Given the description of an element on the screen output the (x, y) to click on. 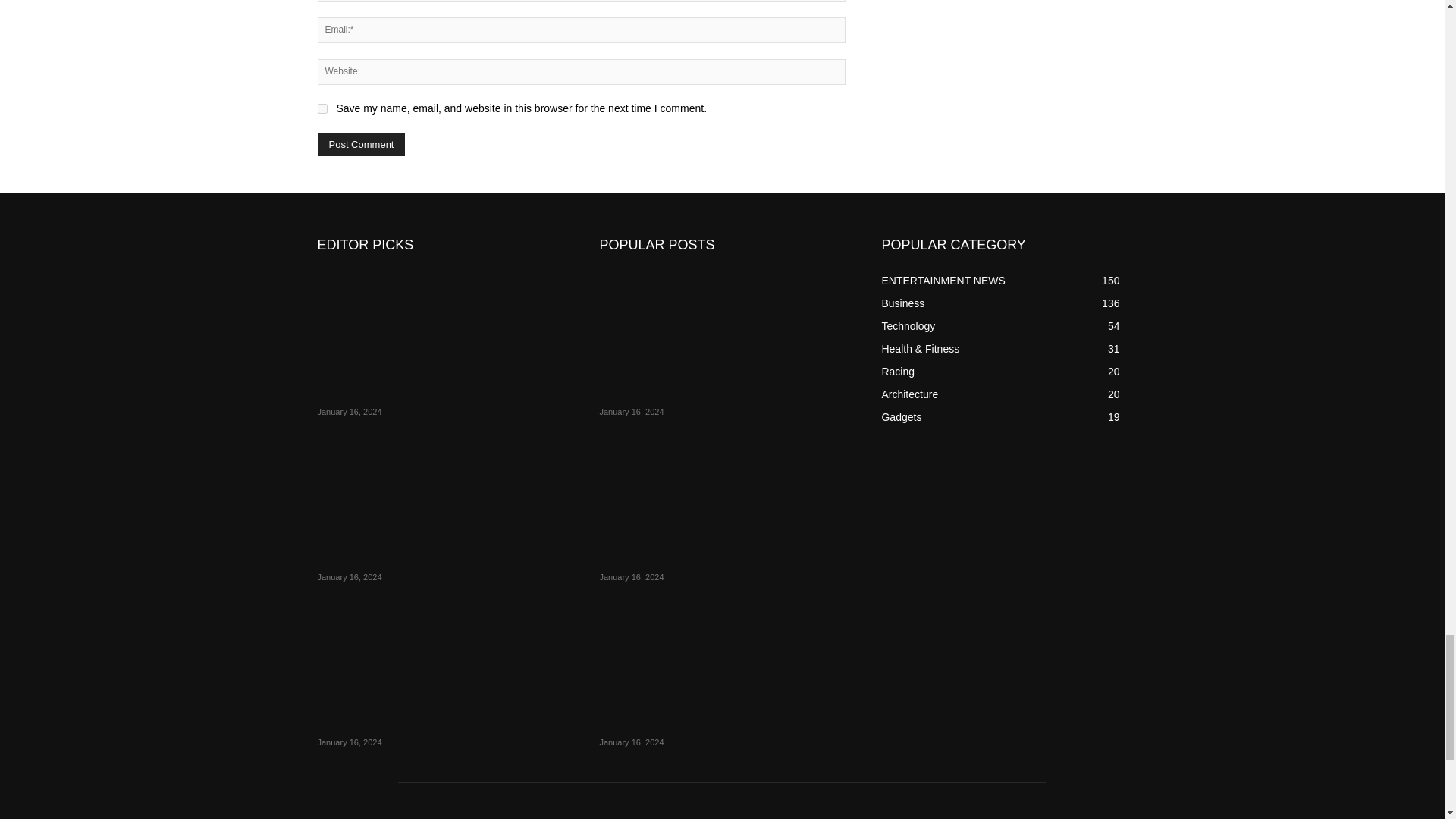
yes (321, 108)
Post Comment (360, 144)
